Given the description of an element on the screen output the (x, y) to click on. 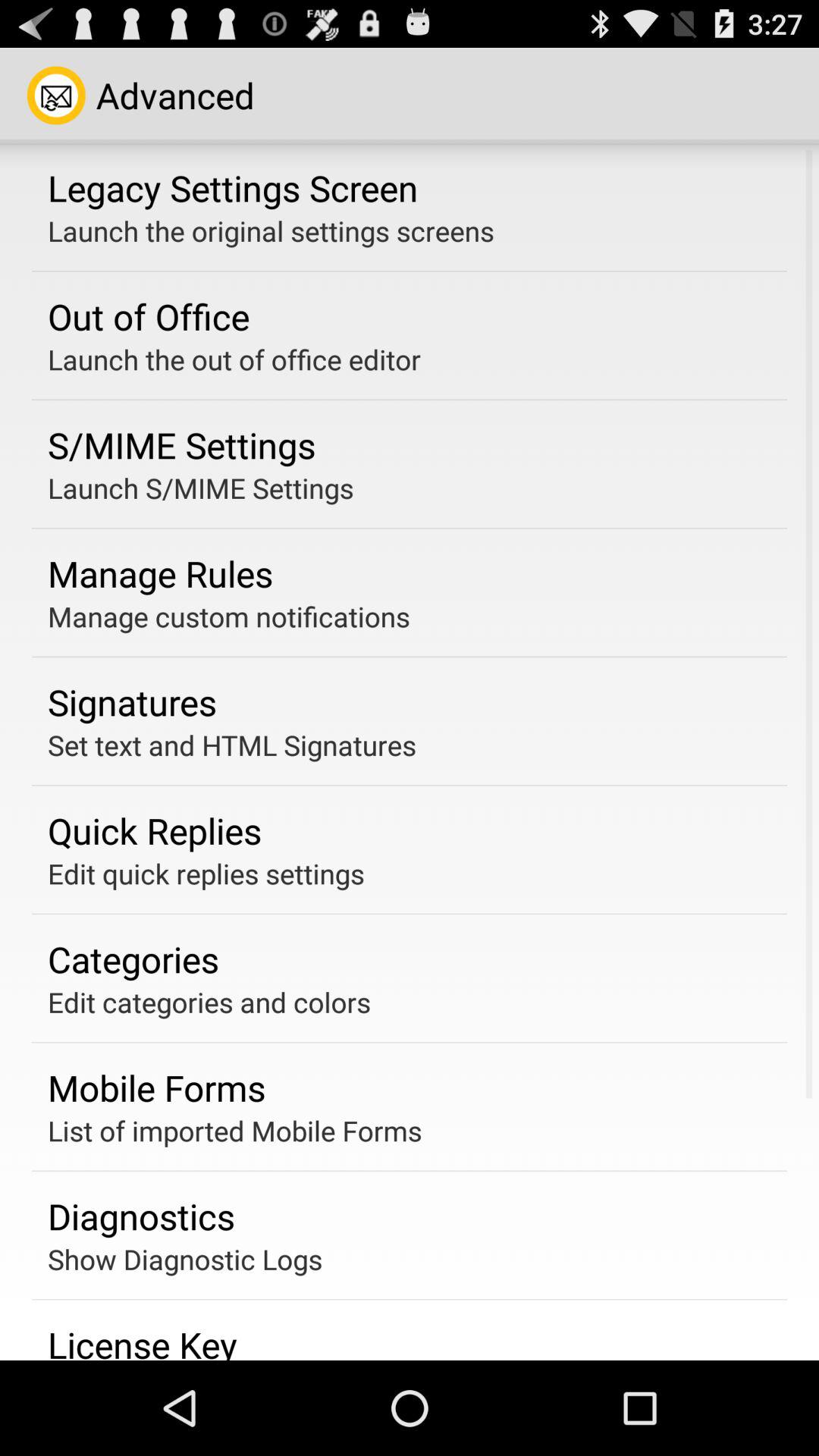
flip until the diagnostics item (140, 1216)
